Given the description of an element on the screen output the (x, y) to click on. 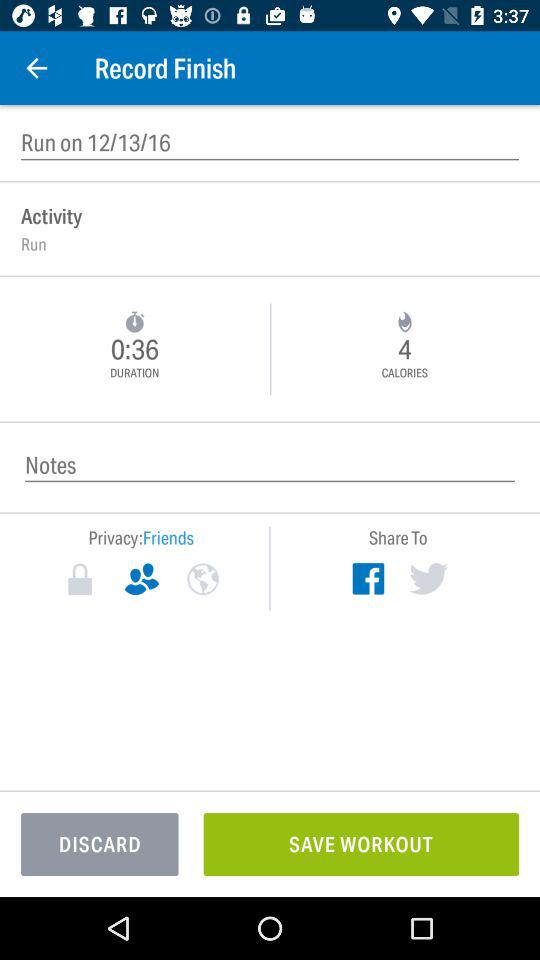
exchange privacy for content to be viewed by everyone (202, 579)
